Given the description of an element on the screen output the (x, y) to click on. 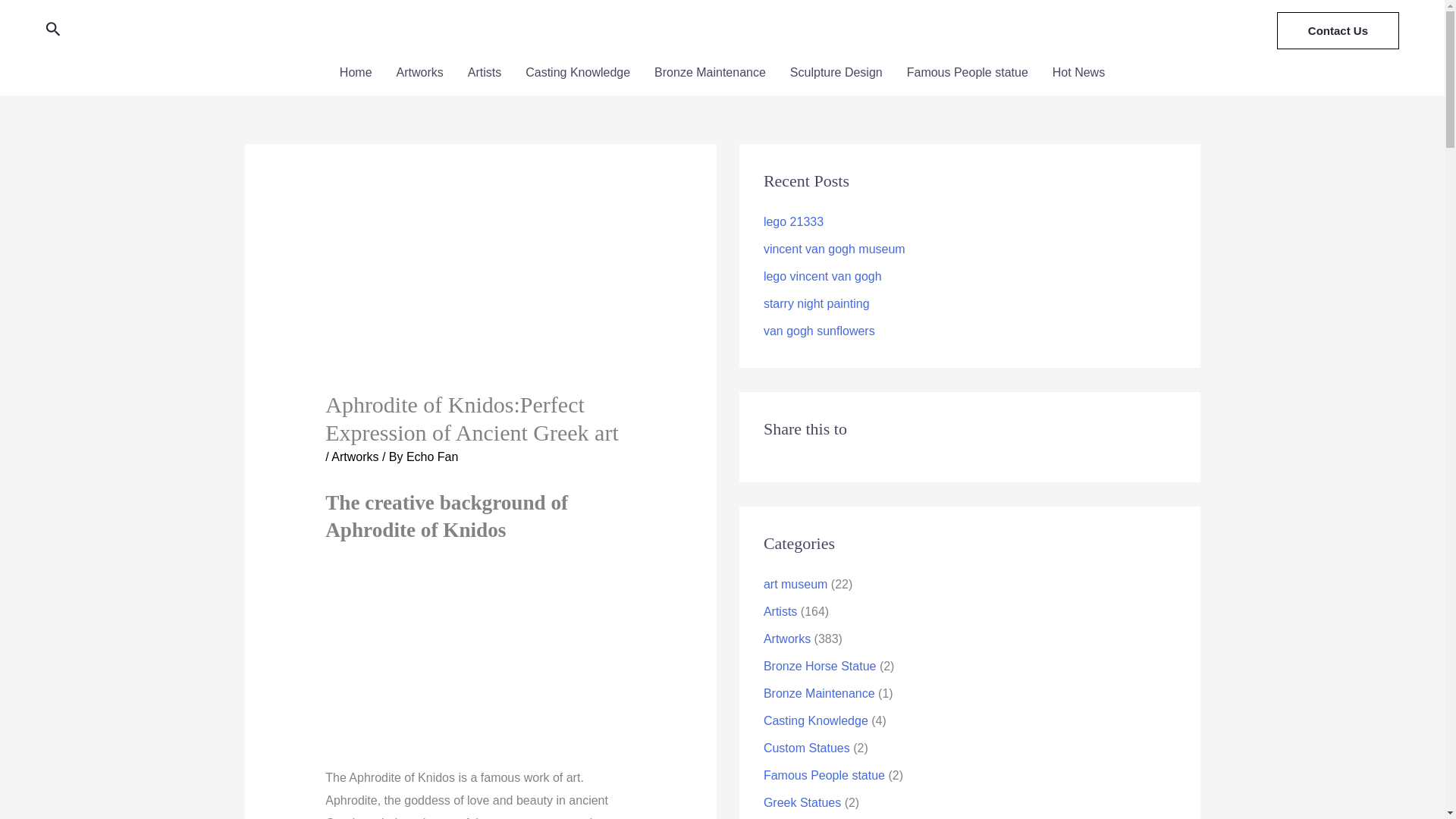
Famous People statue (968, 72)
View all posts by Echo Fan (432, 456)
Artworks (354, 456)
Home (355, 72)
Search (53, 30)
Hot News (1078, 72)
Artworks (419, 72)
Contact Us (1337, 30)
Echo Fan (432, 456)
Artists (484, 72)
Sculpture Design (836, 72)
Bronze Maintenance (709, 72)
Casting Knowledge (577, 72)
